Given the description of an element on the screen output the (x, y) to click on. 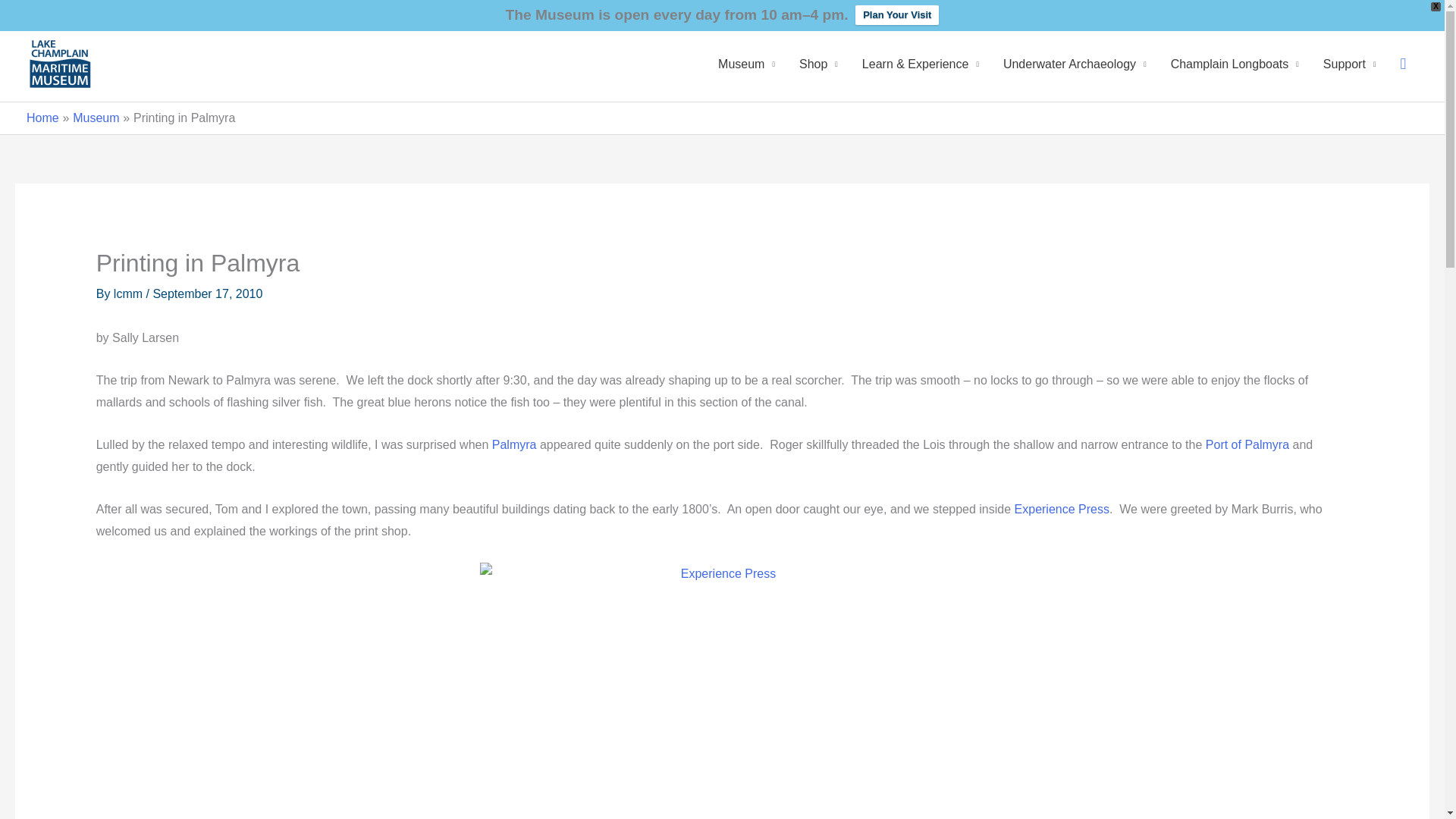
View all posts by lcmm (130, 293)
Plan Your Visit (897, 14)
Museum (746, 63)
